Given the description of an element on the screen output the (x, y) to click on. 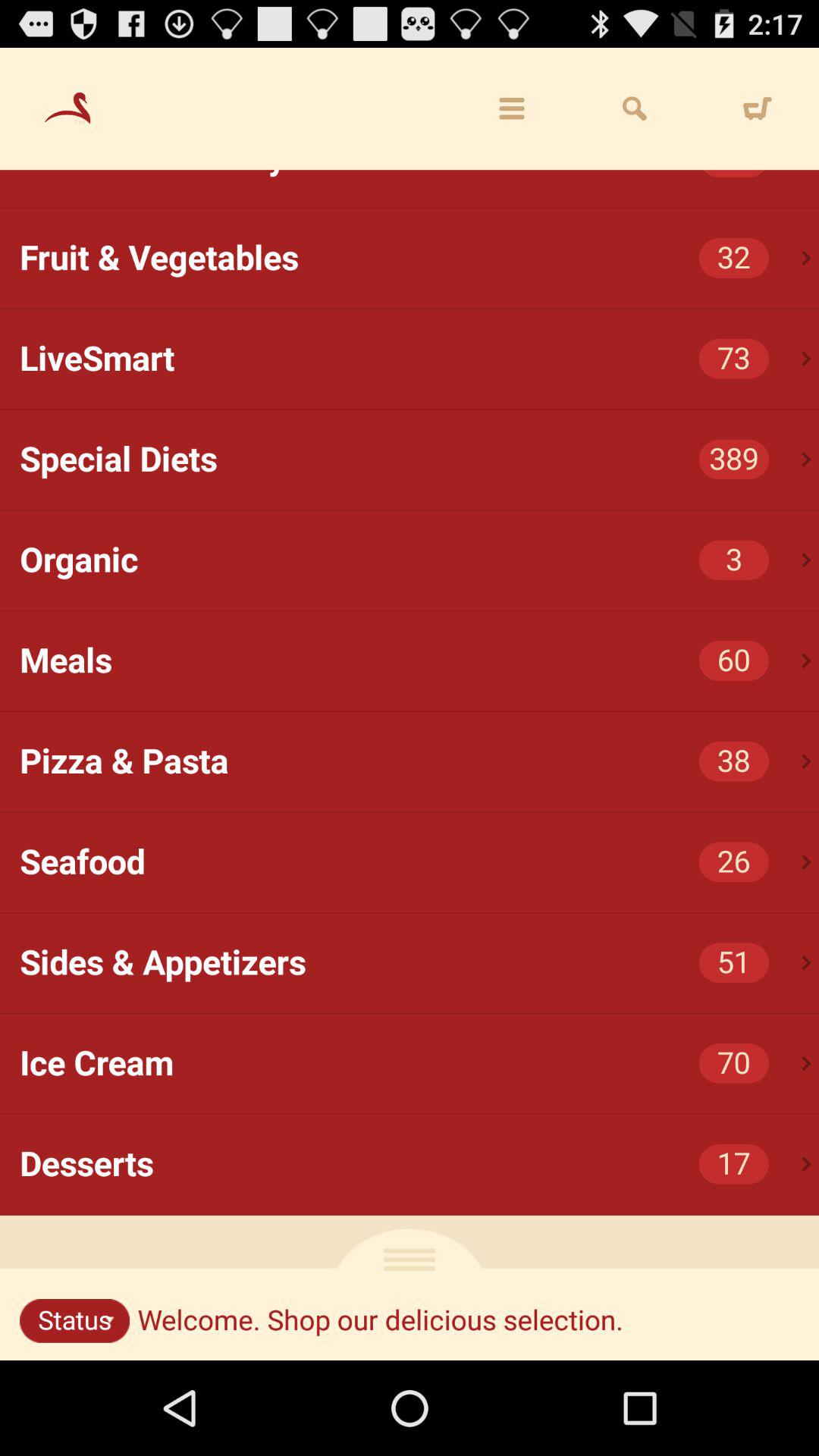
tap item above desserts item (806, 1063)
